Given the description of an element on the screen output the (x, y) to click on. 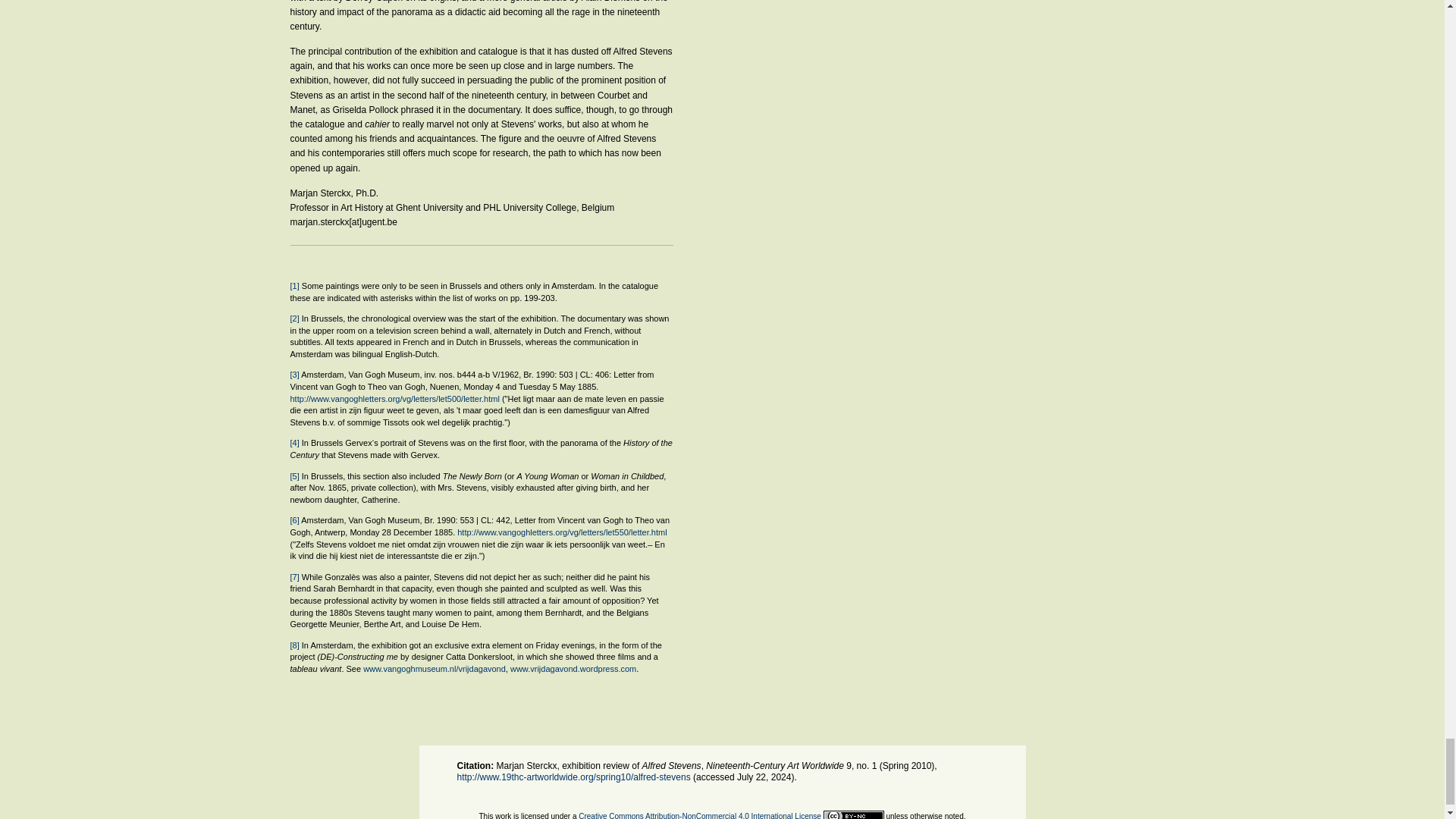
www.vrijdagavond.wordpress.com (573, 668)
